Given the description of an element on the screen output the (x, y) to click on. 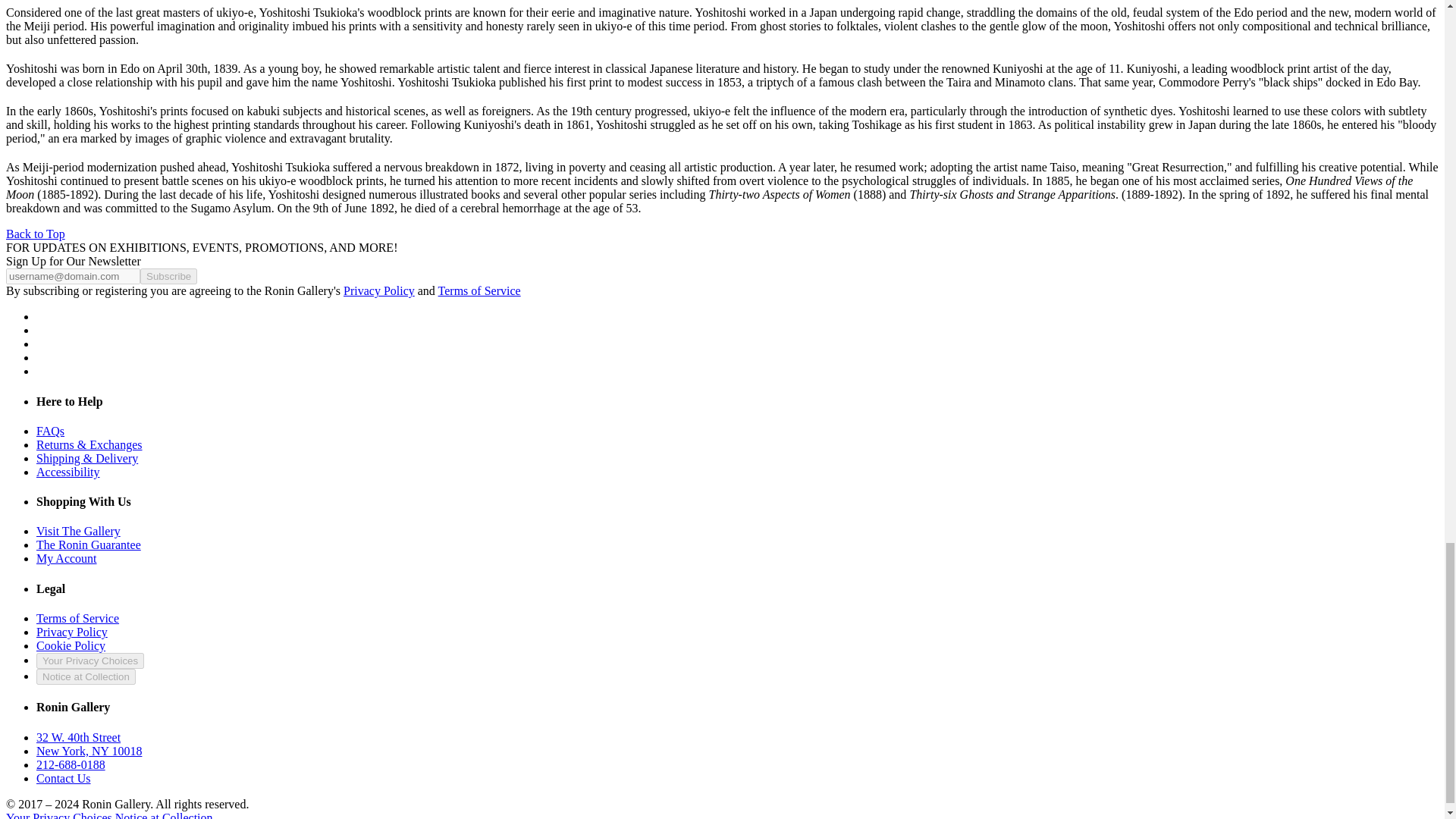
Subscribe (167, 276)
